Given the description of an element on the screen output the (x, y) to click on. 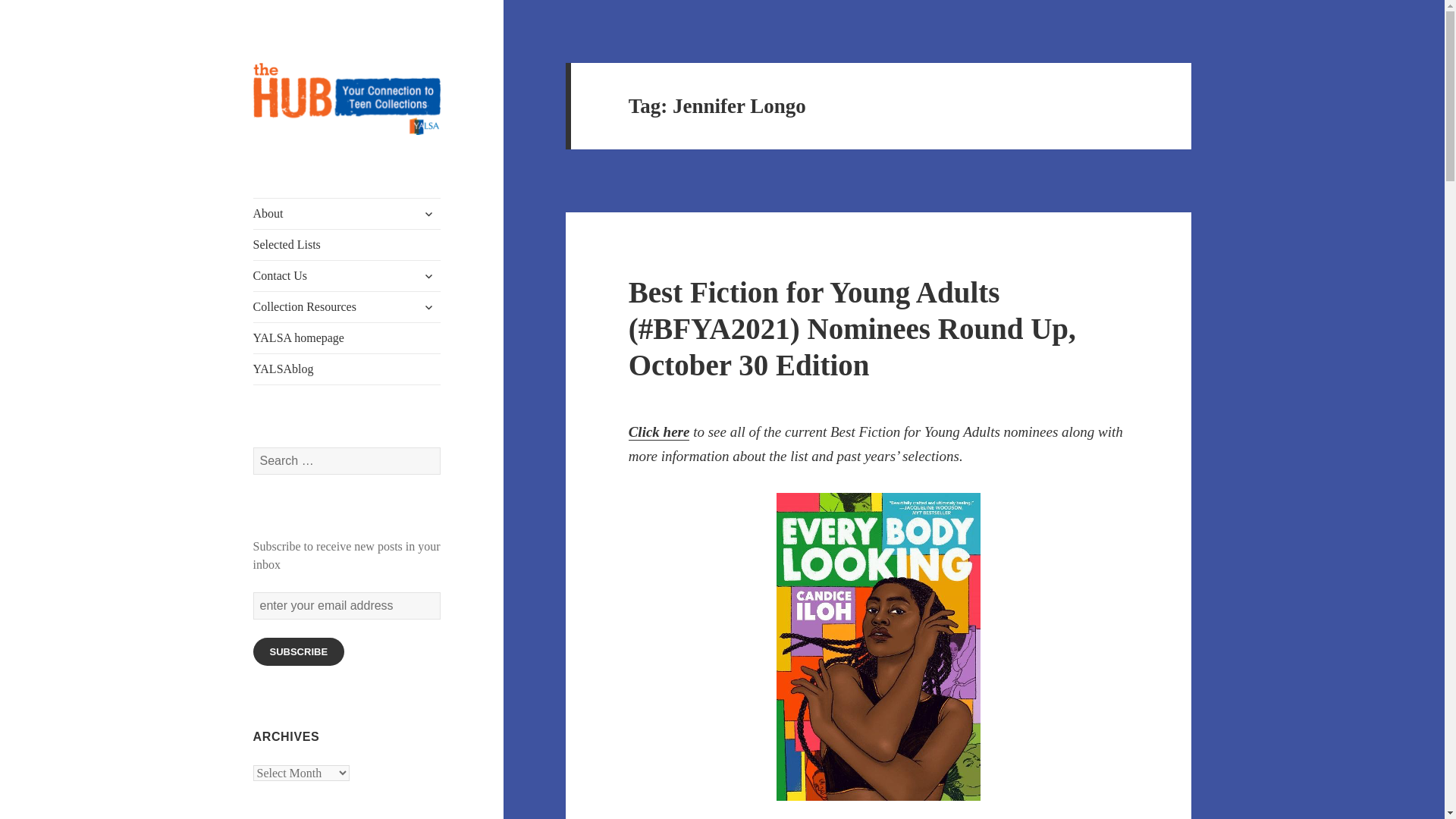
About (347, 214)
YALSAblog (347, 368)
Click here (659, 432)
The Hub (293, 159)
YALSA homepage (347, 337)
expand child menu (428, 275)
expand child menu (428, 213)
expand child menu (428, 306)
Selected Lists (347, 245)
Collection Resources (347, 306)
Contact Us (347, 276)
SUBSCRIBE (299, 651)
